Given the description of an element on the screen output the (x, y) to click on. 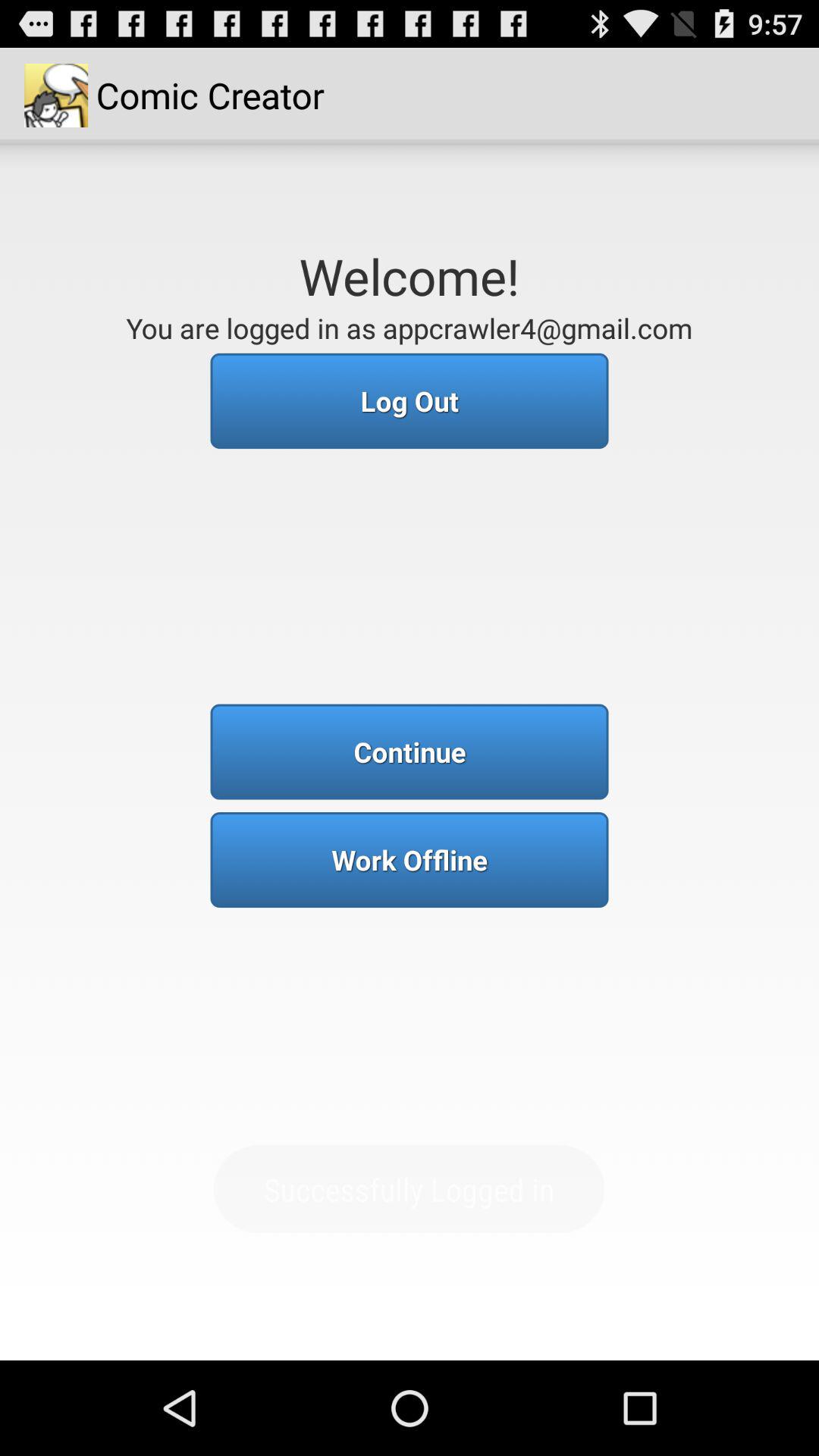
select work offline item (409, 859)
